Given the description of an element on the screen output the (x, y) to click on. 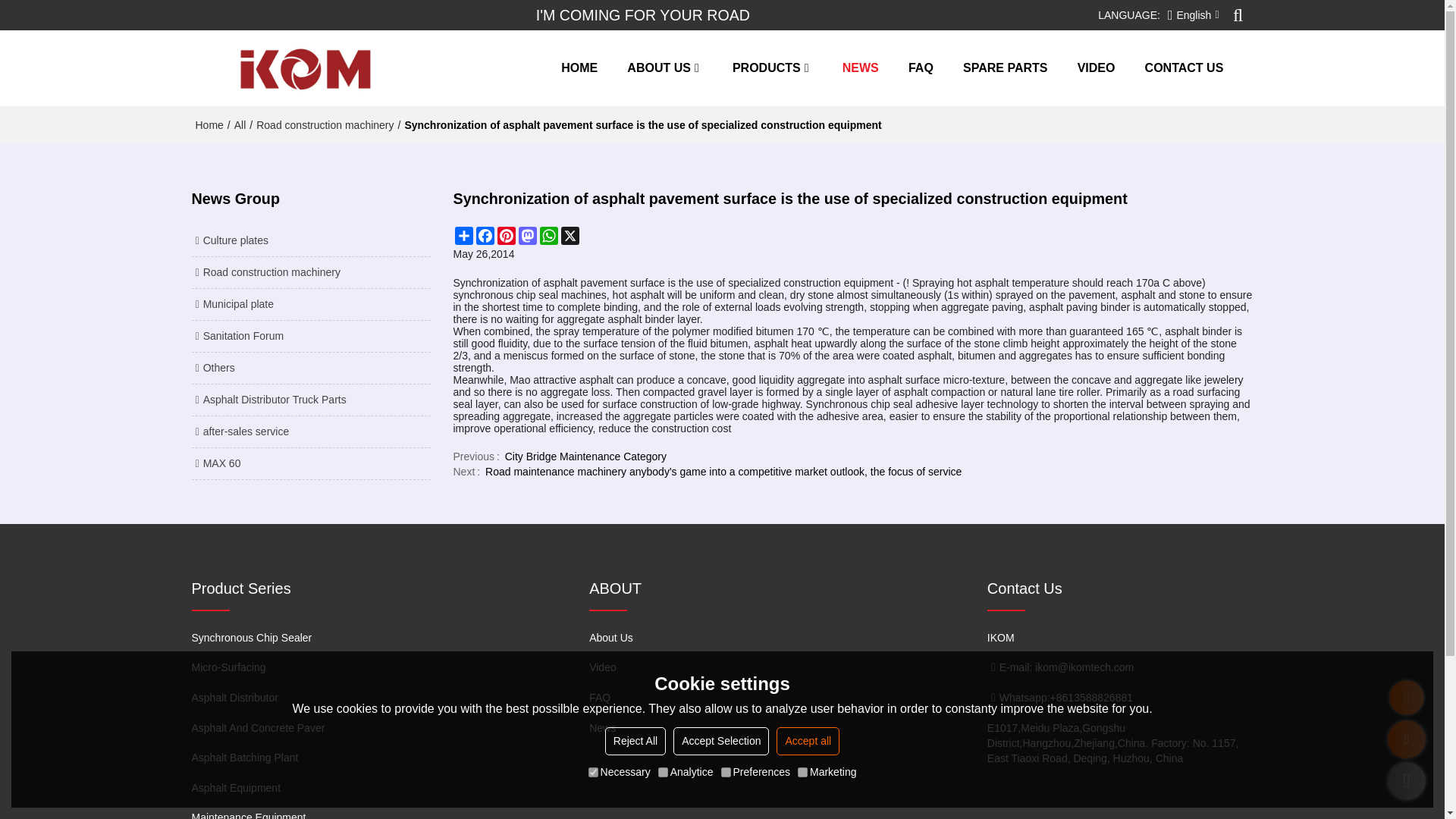
Road construction machinery (324, 124)
CONTACT US (1184, 68)
English (1193, 15)
Share (463, 235)
Pinterest (506, 235)
after-sales service (309, 431)
Road construction machinery (309, 272)
on (663, 772)
ABOUT US (664, 68)
Municipal plate (309, 304)
on (593, 772)
Others (309, 367)
on (802, 772)
ABOUT US (664, 68)
English (1193, 15)
